Given the description of an element on the screen output the (x, y) to click on. 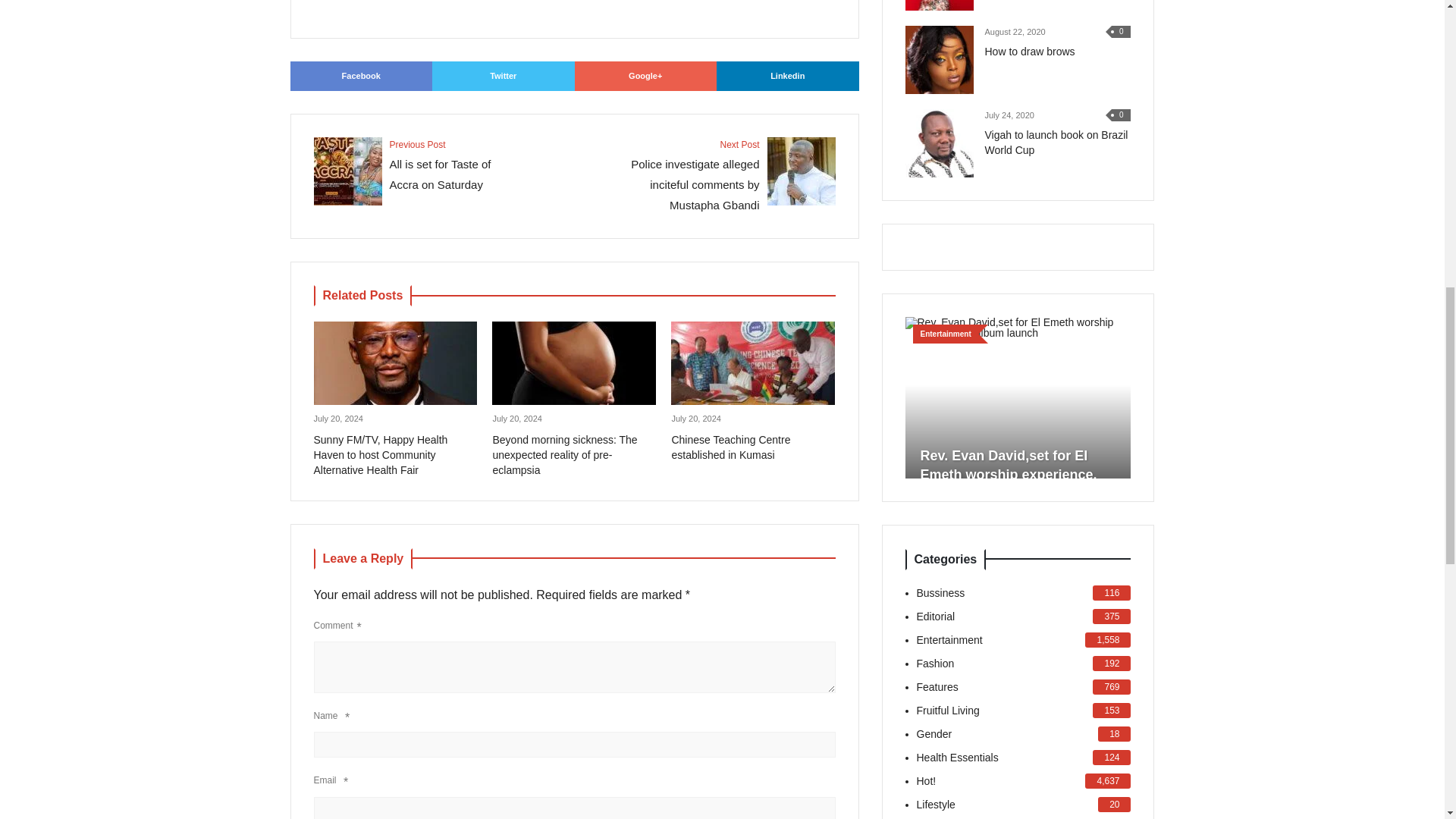
Linkedin (418, 171)
Twitter (787, 76)
Facebook (503, 76)
